Given the description of an element on the screen output the (x, y) to click on. 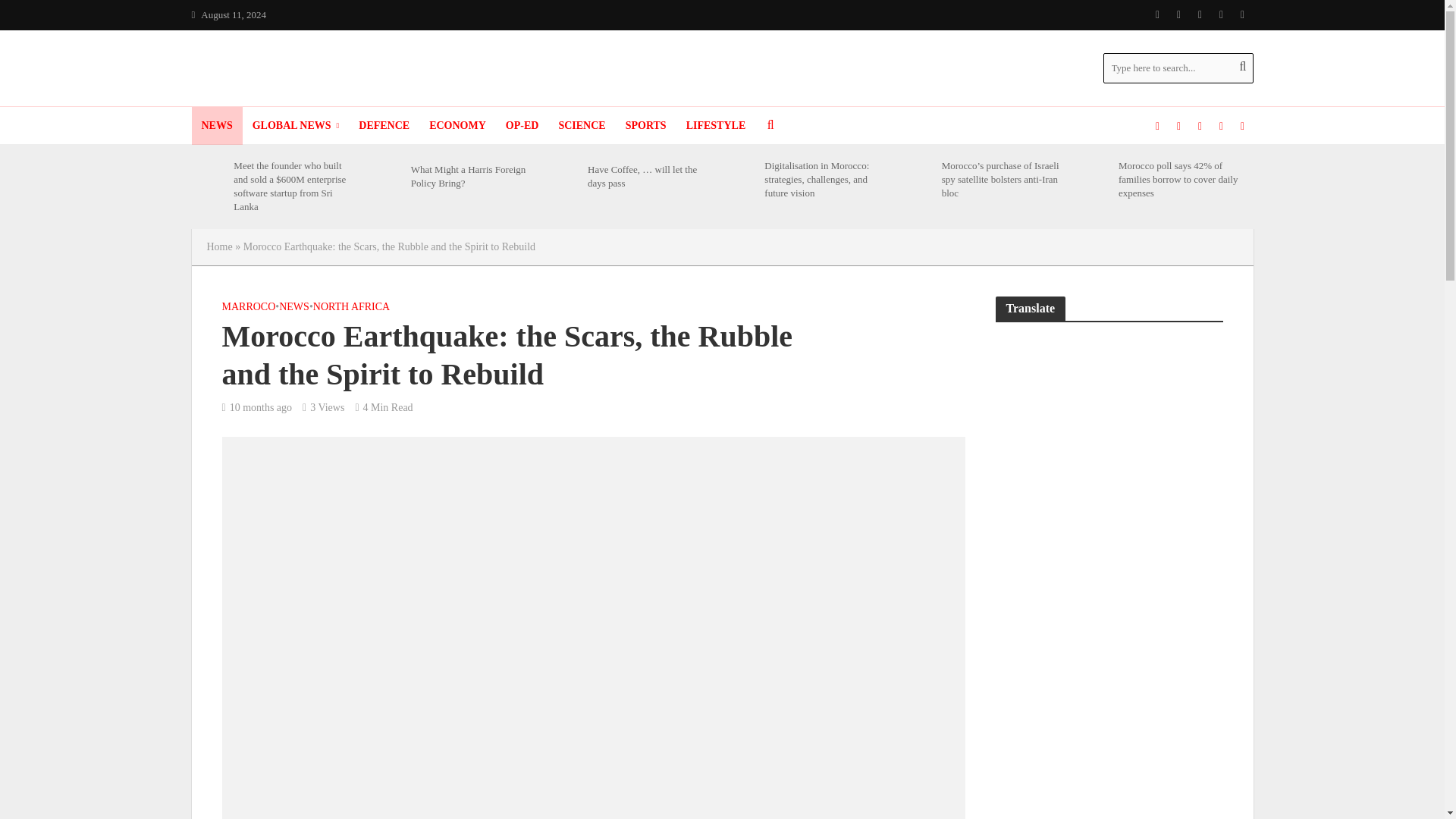
NEWS (215, 125)
GLOBAL NEWS (296, 125)
What Might a Harris Foreign Policy Bring? (385, 176)
